Given the description of an element on the screen output the (x, y) to click on. 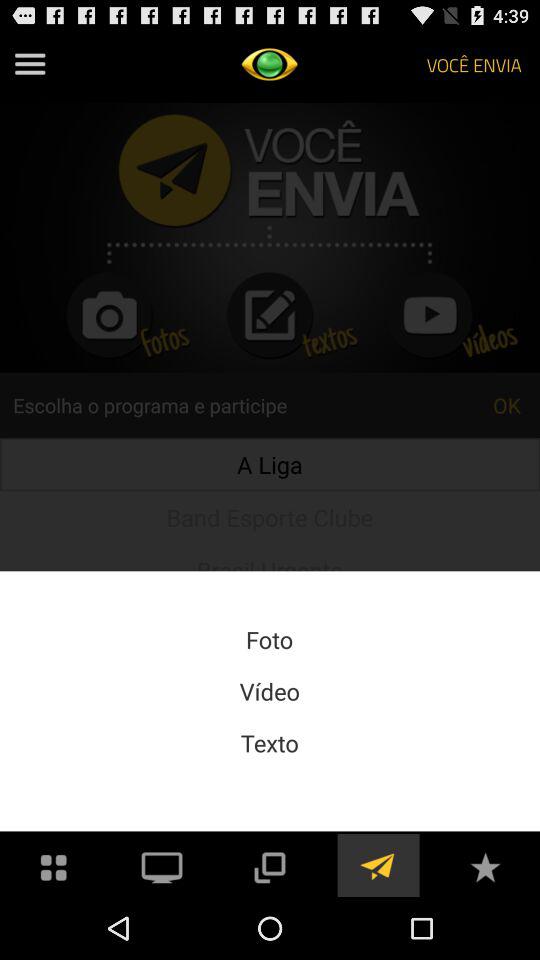
click on  right of computer (269, 865)
go to logo left side of star logo (377, 865)
click on the menu icon in the top (30, 64)
select the star symbol at right bottom (485, 865)
select the symbol at bottom right which is left to monitor symbol (53, 865)
